Given the description of an element on the screen output the (x, y) to click on. 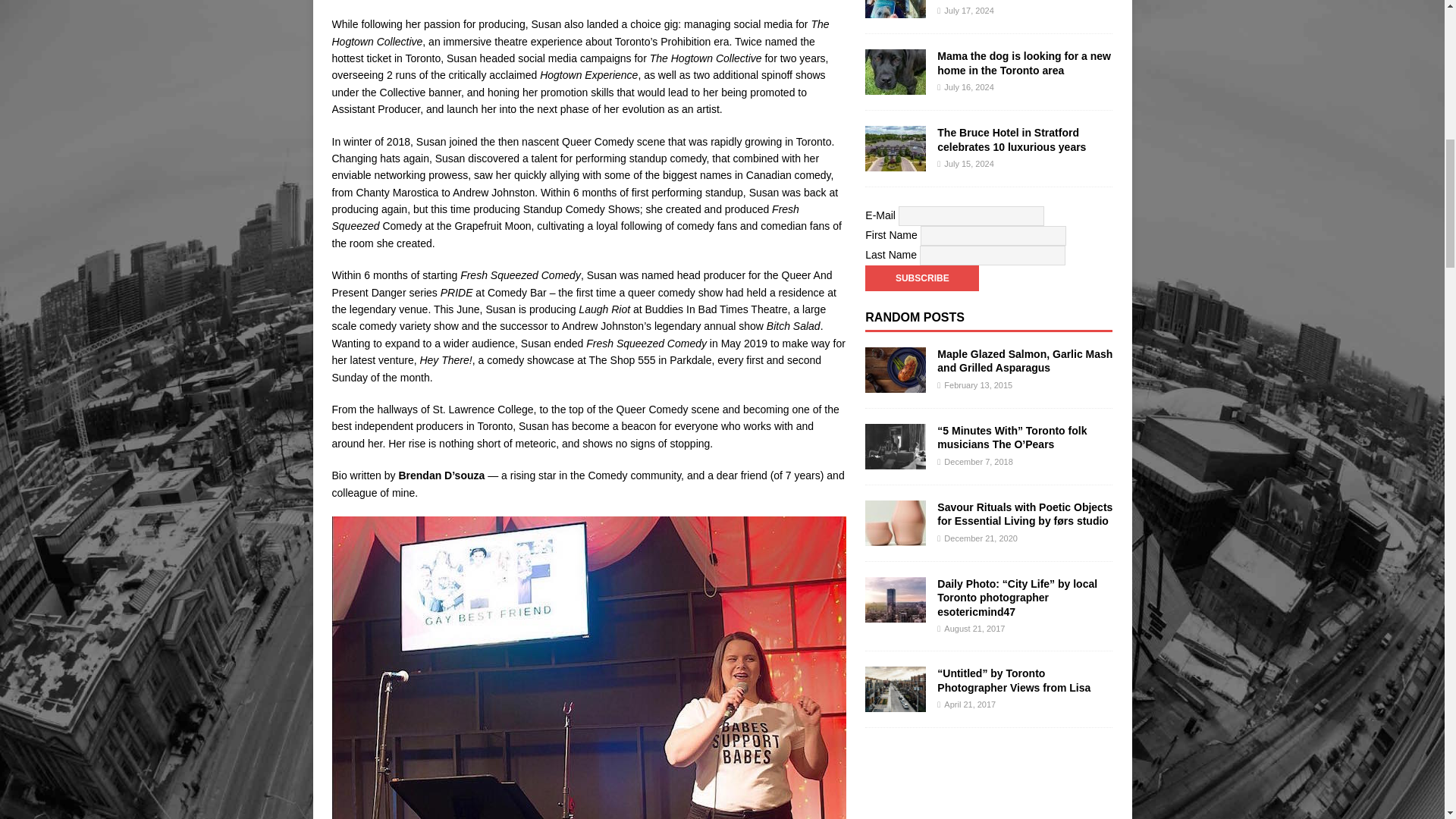
Subscribe (921, 278)
